Given the description of an element on the screen output the (x, y) to click on. 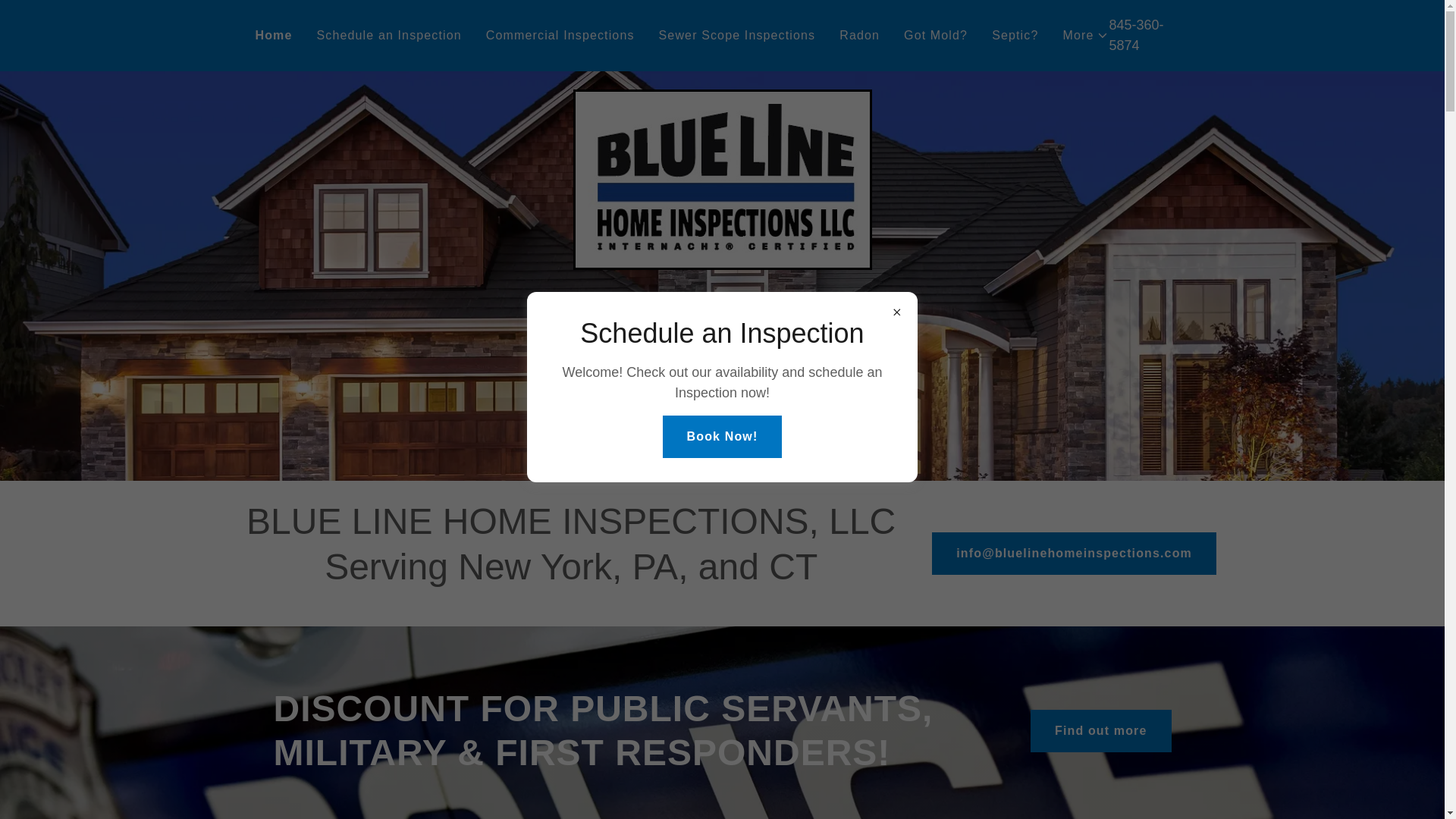
Schedule an Inspection (389, 35)
Got Mold? (935, 35)
Sewer Scope Inspections (737, 35)
845-360-5874 (1135, 35)
Radon (858, 35)
Find out more (1100, 731)
Septic? (1014, 35)
More (1085, 35)
Commercial Inspections (560, 35)
